Given the description of an element on the screen output the (x, y) to click on. 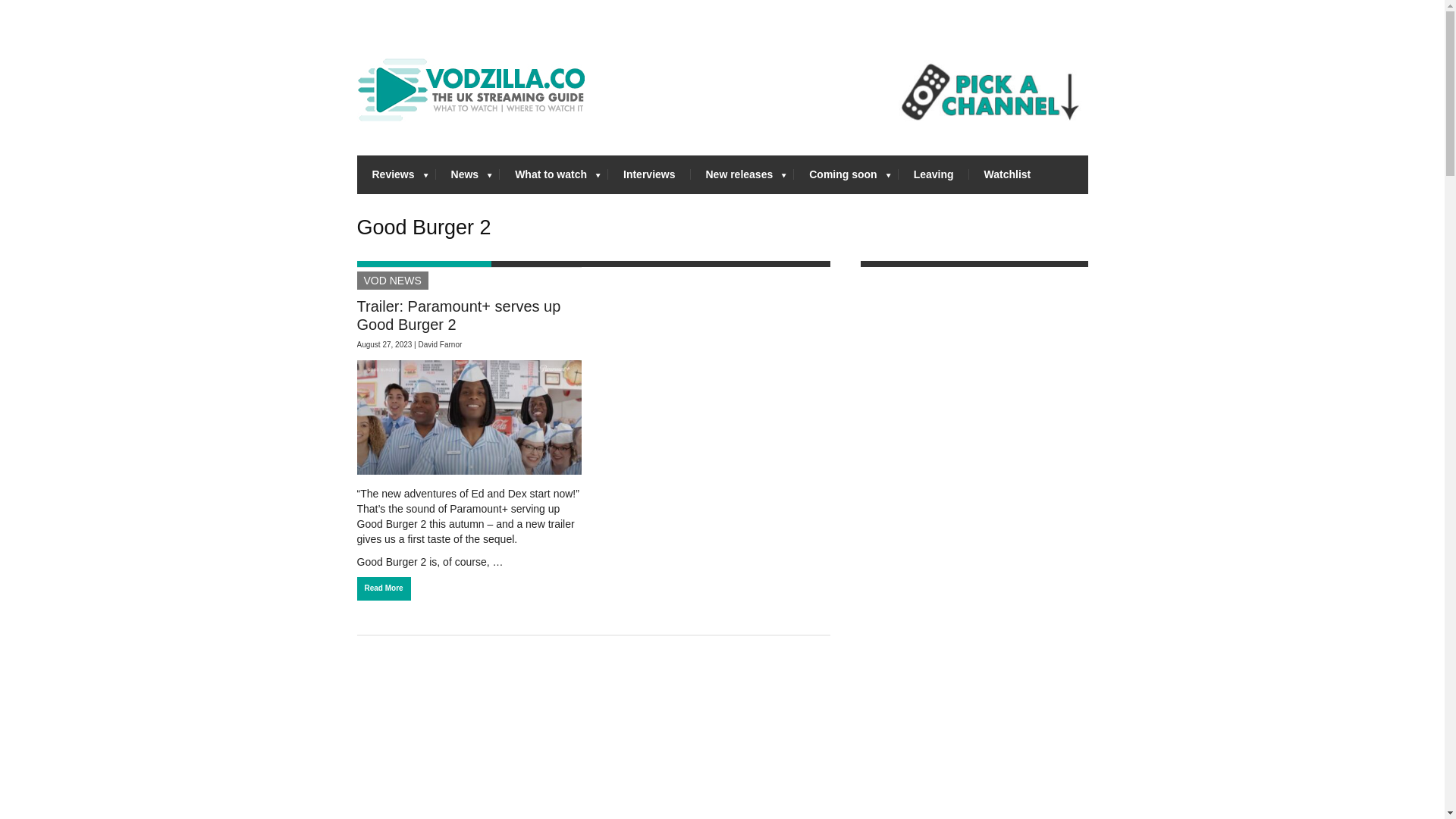
New releases (741, 174)
Coming soon (845, 174)
Interviews (649, 174)
